Given the description of an element on the screen output the (x, y) to click on. 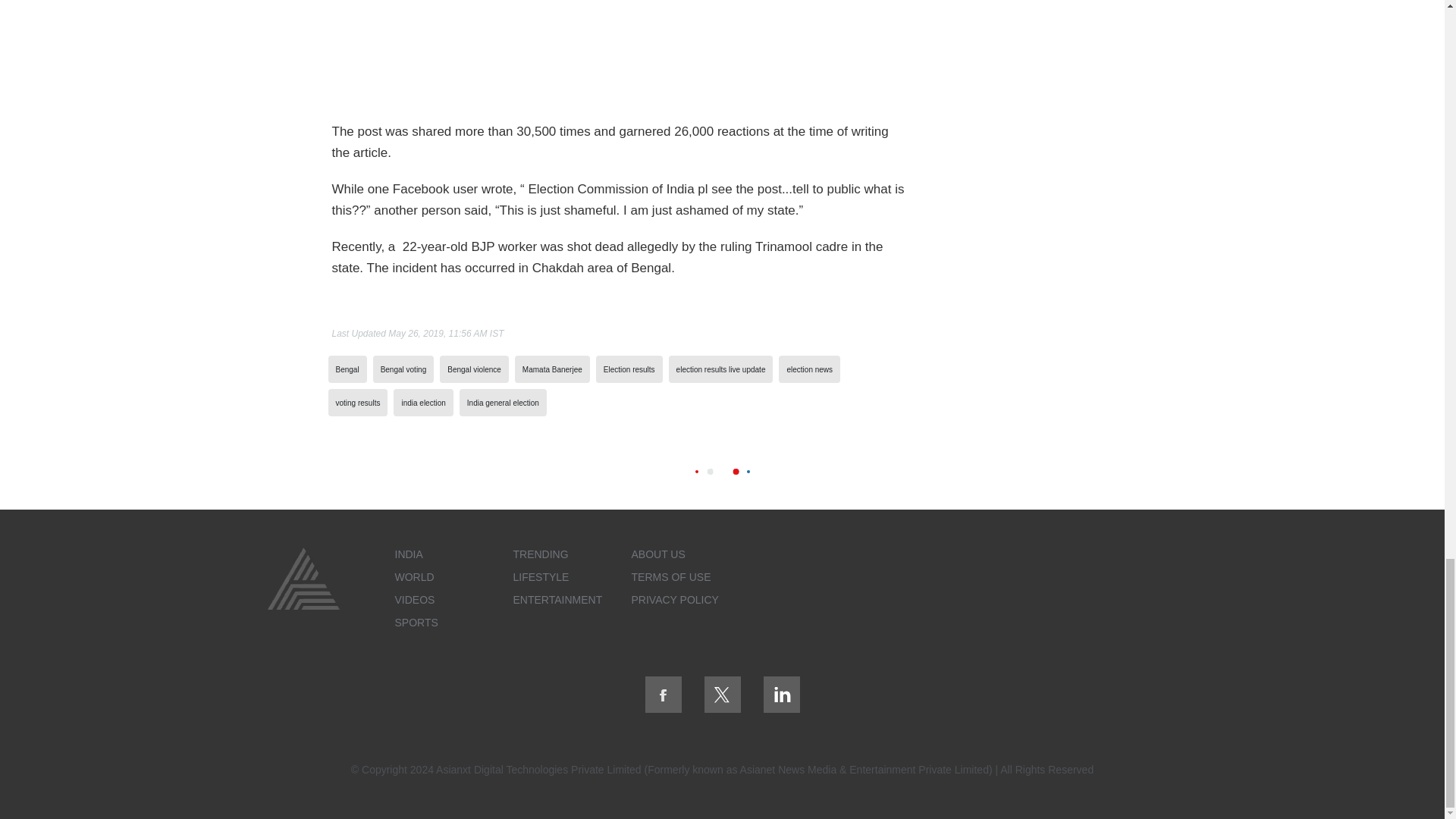
Bengal violence (473, 369)
Mamata Banerjee (552, 369)
Bengal voting (403, 369)
Bengal (346, 369)
